Given the description of an element on the screen output the (x, y) to click on. 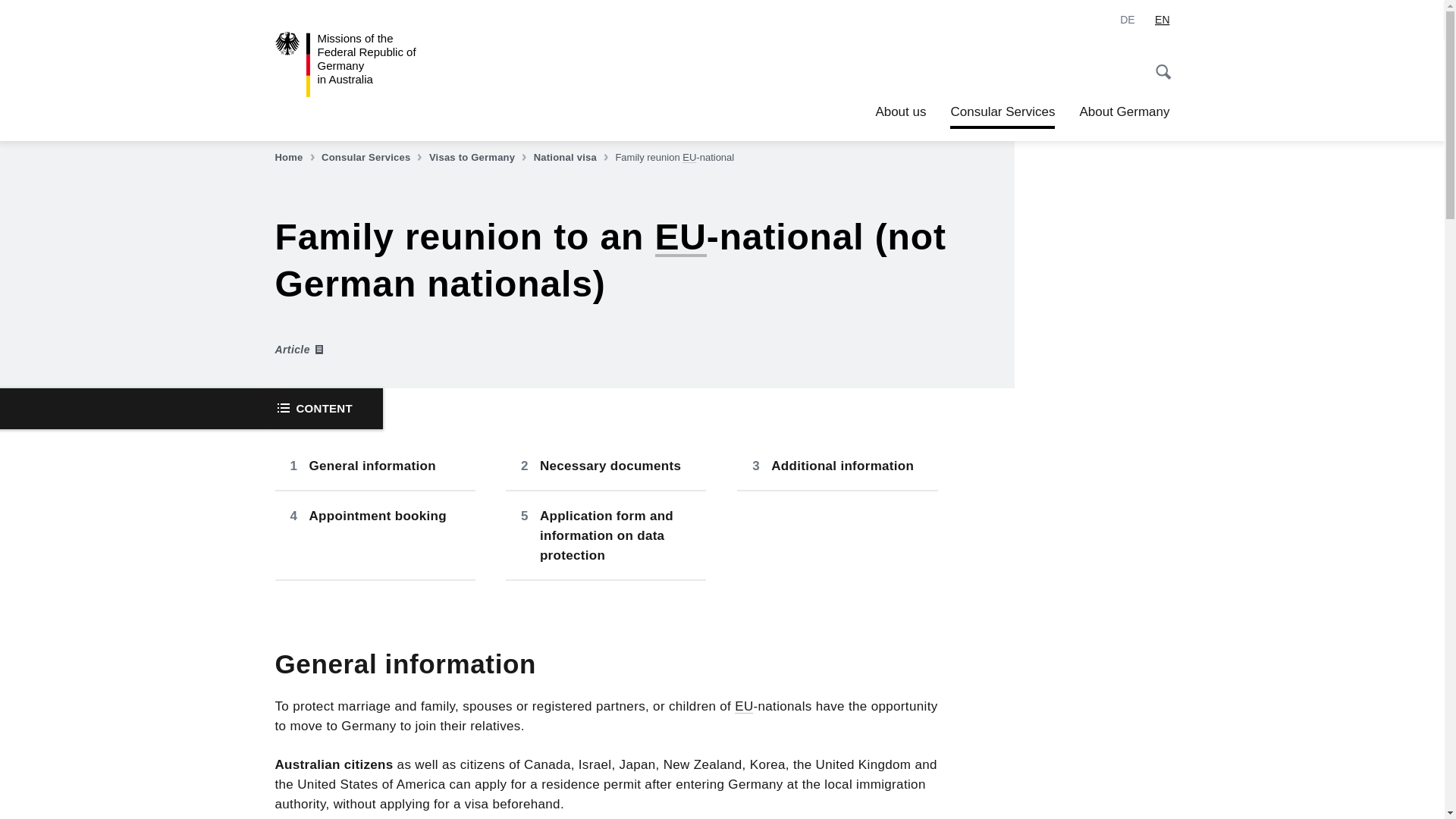
DE (1126, 20)
Consular Services (373, 157)
German Missions in Australia (363, 64)
Home (296, 157)
English (1161, 19)
European Union (743, 706)
National visa (572, 157)
European Union (688, 156)
Necessary documents (605, 466)
Deutsch (1126, 19)
